Given the description of an element on the screen output the (x, y) to click on. 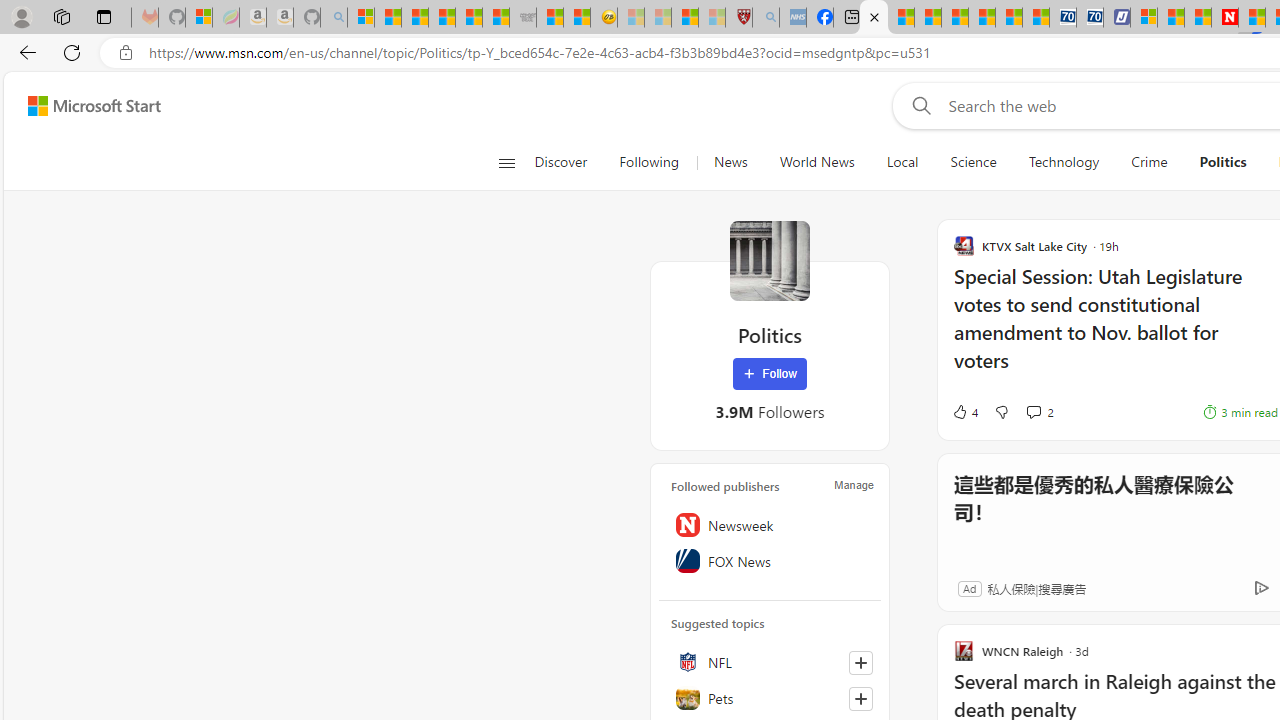
Politics - MSN (874, 17)
View comments 2 Comment (1033, 411)
FOX News (770, 561)
12 Popular Science Lies that Must be Corrected - Sleeping (711, 17)
